Given the description of an element on the screen output the (x, y) to click on. 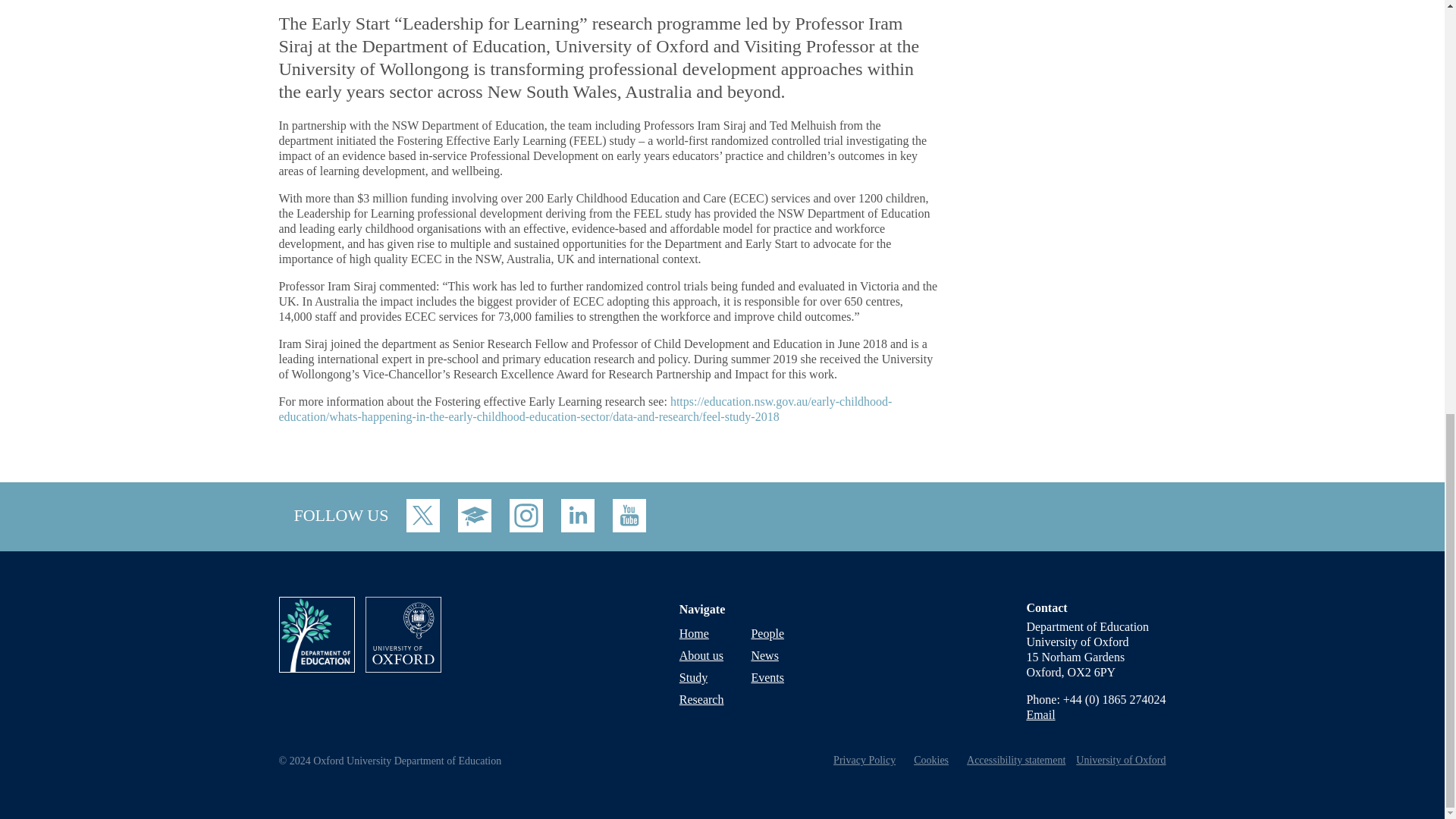
Oxford University Department of Education Home Page (322, 667)
